Given the description of an element on the screen output the (x, y) to click on. 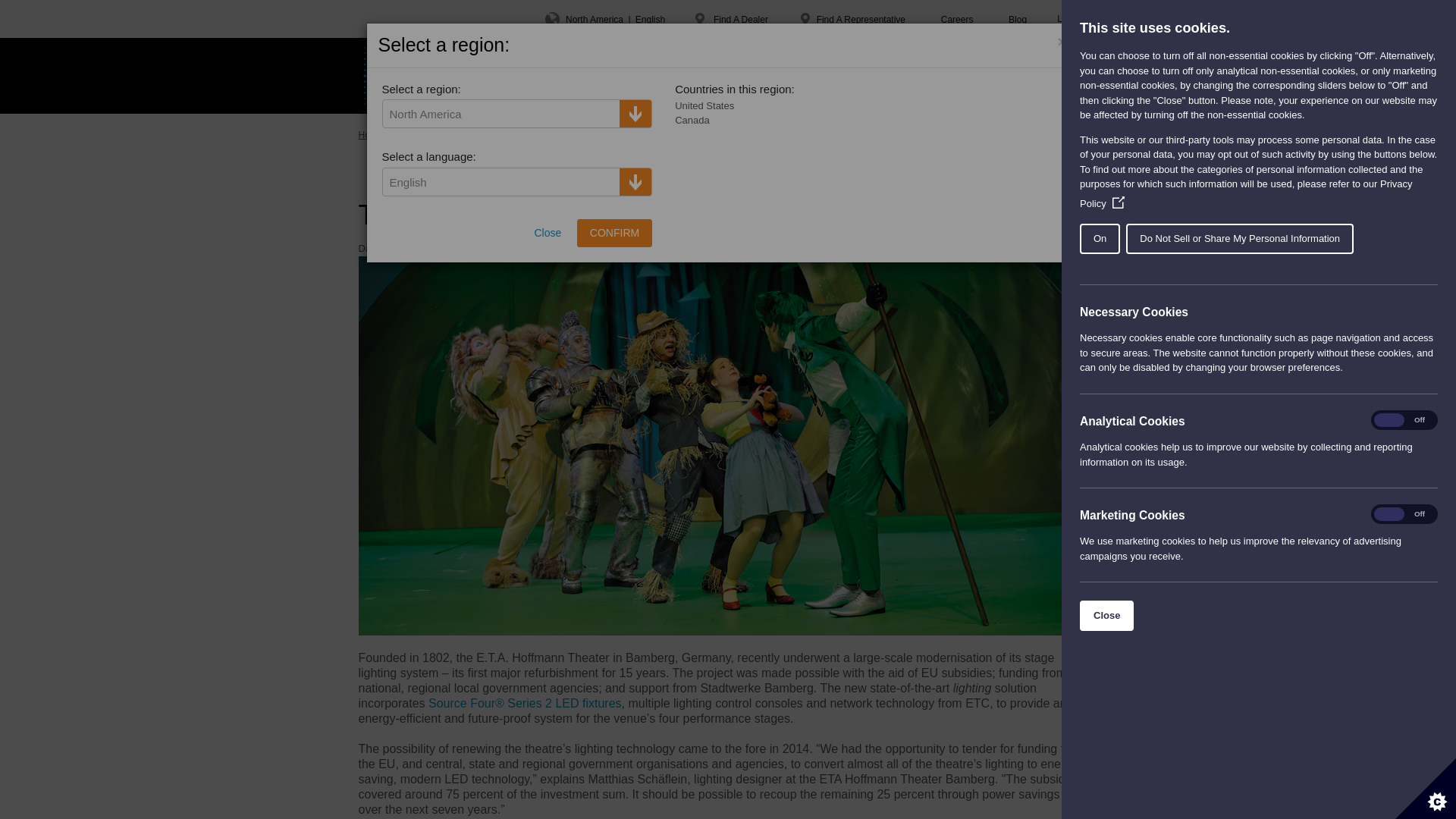
See all ETC products (809, 134)
Confirm (614, 232)
ABOUT ETC (740, 75)
On (1194, 238)
PRODUCTS (492, 75)
ETC Home (395, 75)
Print this page (891, 134)
Close (1156, 615)
Select your region and Language (605, 18)
About ETC (418, 134)
News (464, 134)
Do Not Sell or Share My Personal Information (1317, 238)
